Given the description of an element on the screen output the (x, y) to click on. 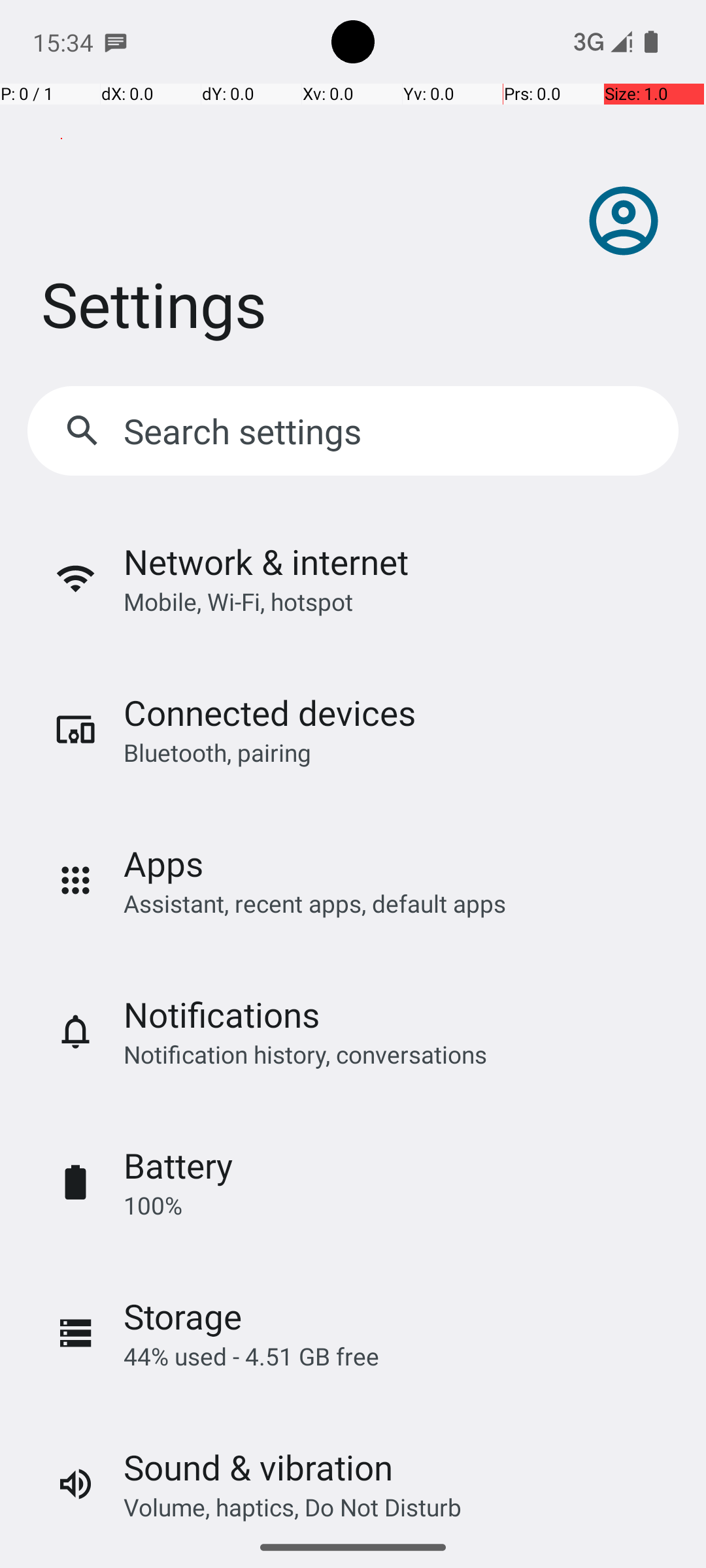
44% used - 4.51 GB free Element type: android.widget.TextView (251, 1355)
